Given the description of an element on the screen output the (x, y) to click on. 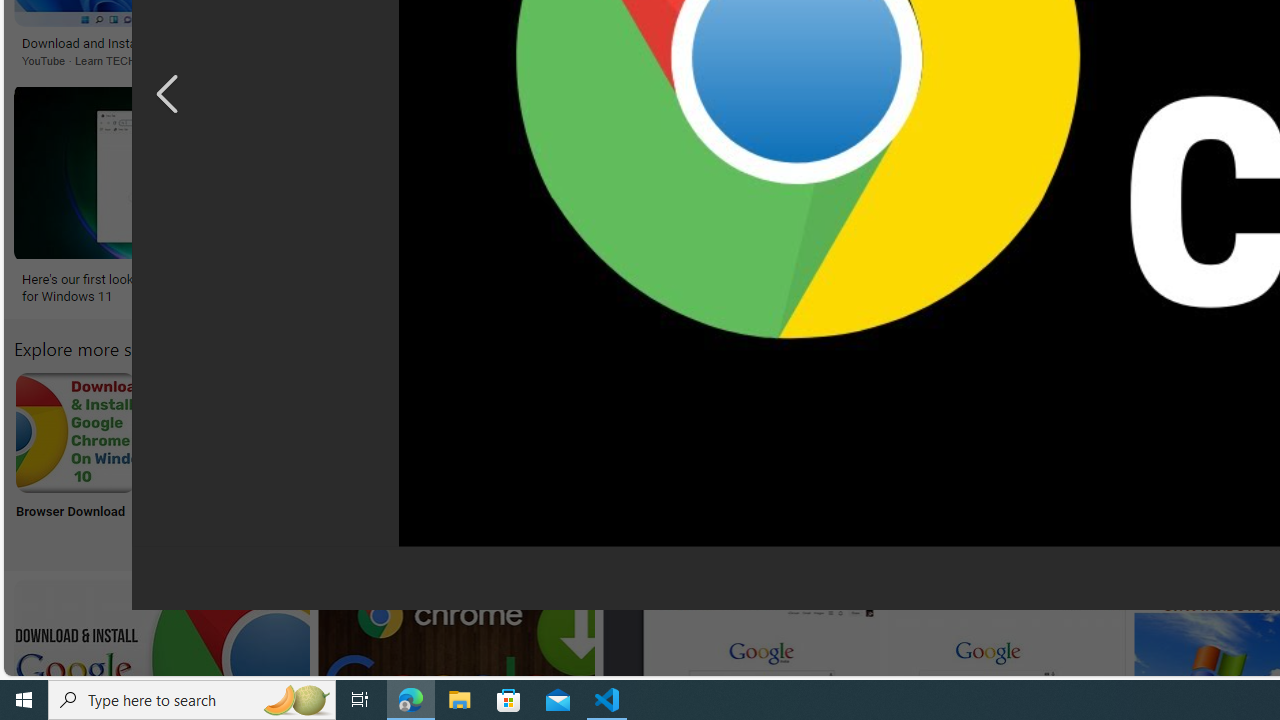
Windows XP Google Chrome (339, 432)
About Google (604, 457)
Chrome Logo.png Logo png (999, 458)
Windows-10-Google-Chrome - Windows Mode (1104, 279)
5:14 (350, 597)
Windows-10-Google-Chrome - Windows Mode (1095, 279)
Image result for Chrome Windows (1104, 172)
Color PNG (1131, 457)
How to download google chrome on windows 10 - bombver (494, 287)
Chrome Browser Download (75, 432)
Chrome Logo.png (999, 432)
3:33 (683, 101)
